Given the description of an element on the screen output the (x, y) to click on. 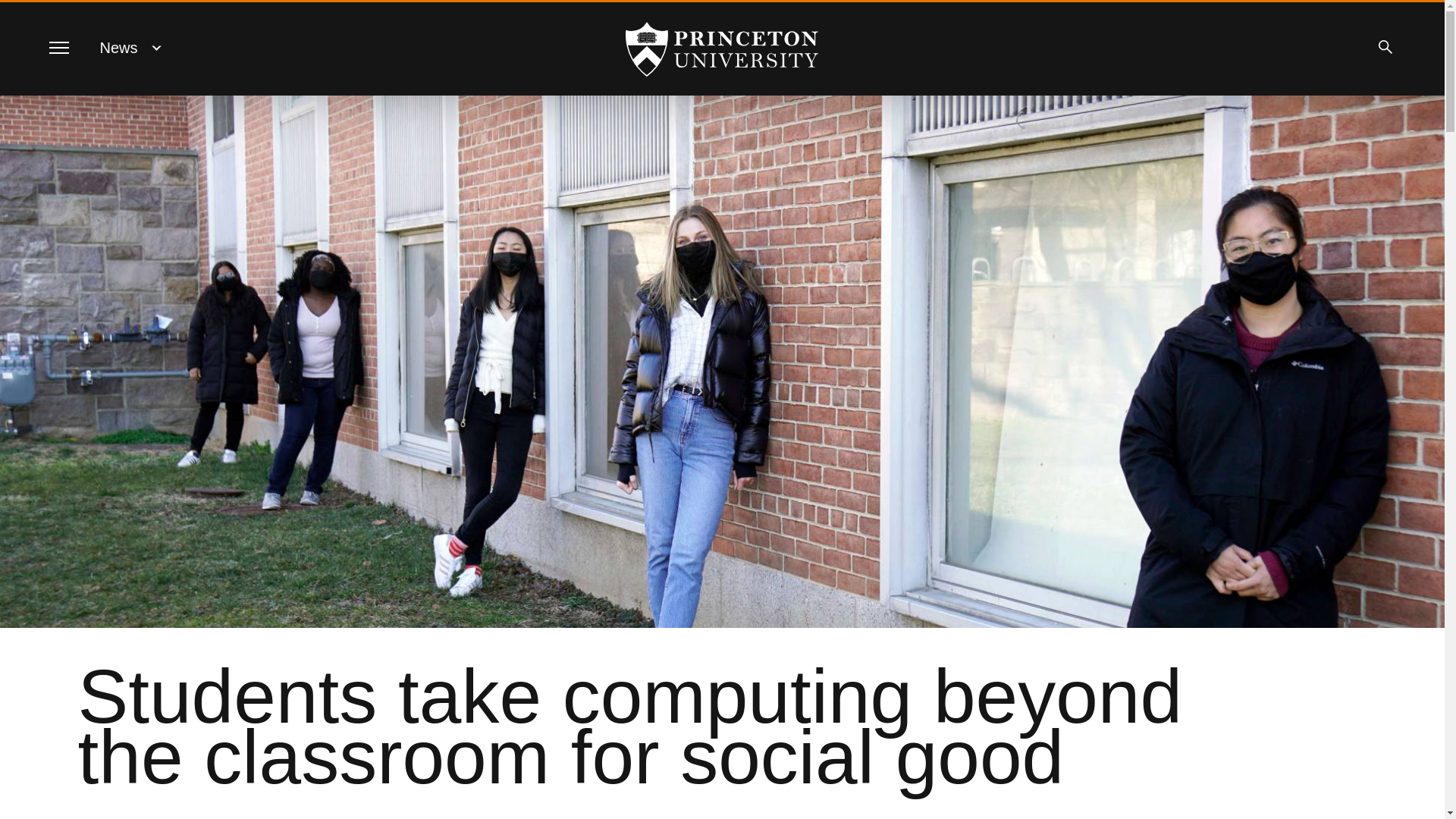
Menu (57, 47)
Search (1384, 47)
Princeton University (722, 49)
News (119, 47)
SKIP TO MAIN CONTENT (22, 13)
Home (722, 49)
